Given the description of an element on the screen output the (x, y) to click on. 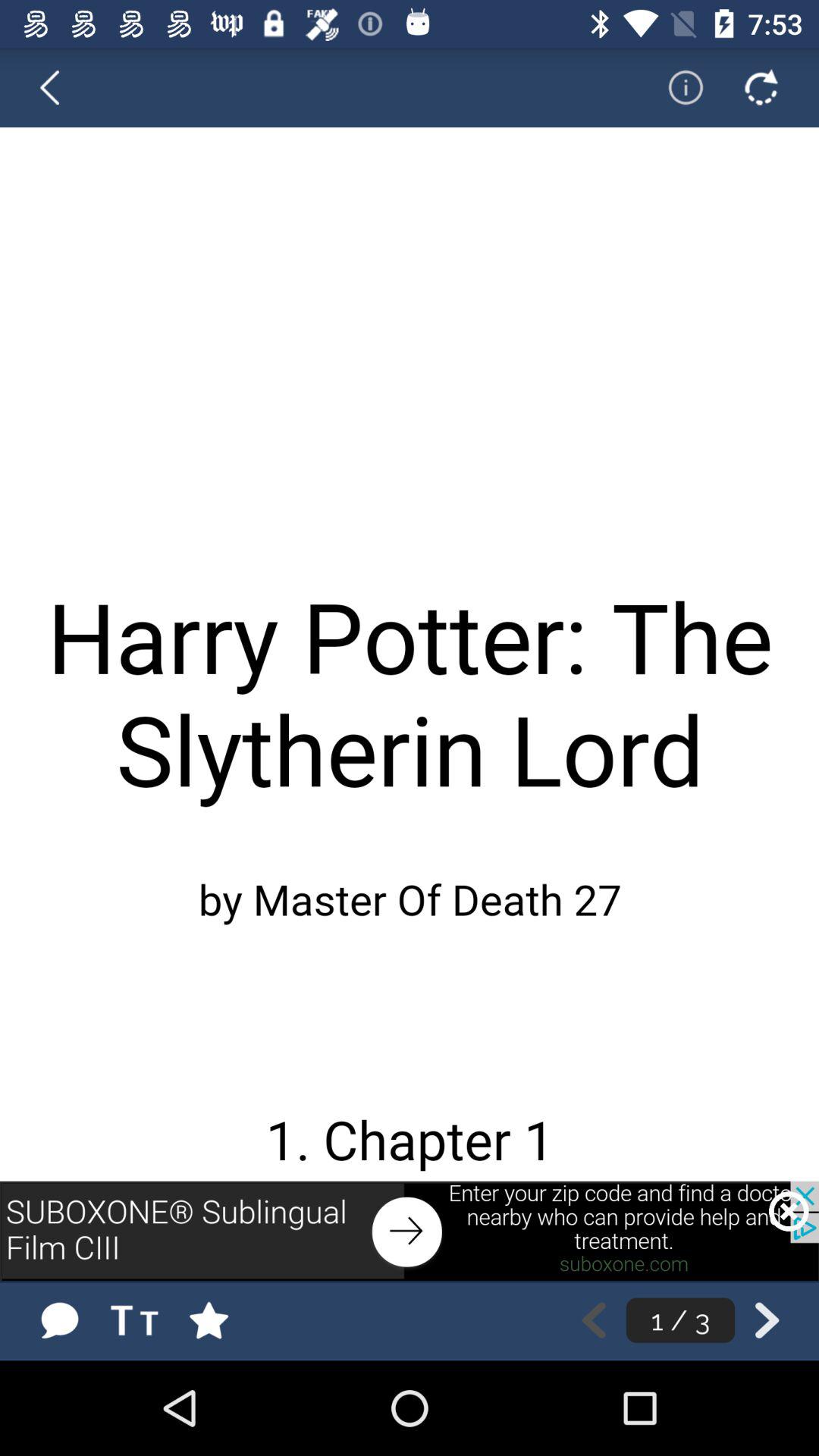
go back (761, 87)
